Given the description of an element on the screen output the (x, y) to click on. 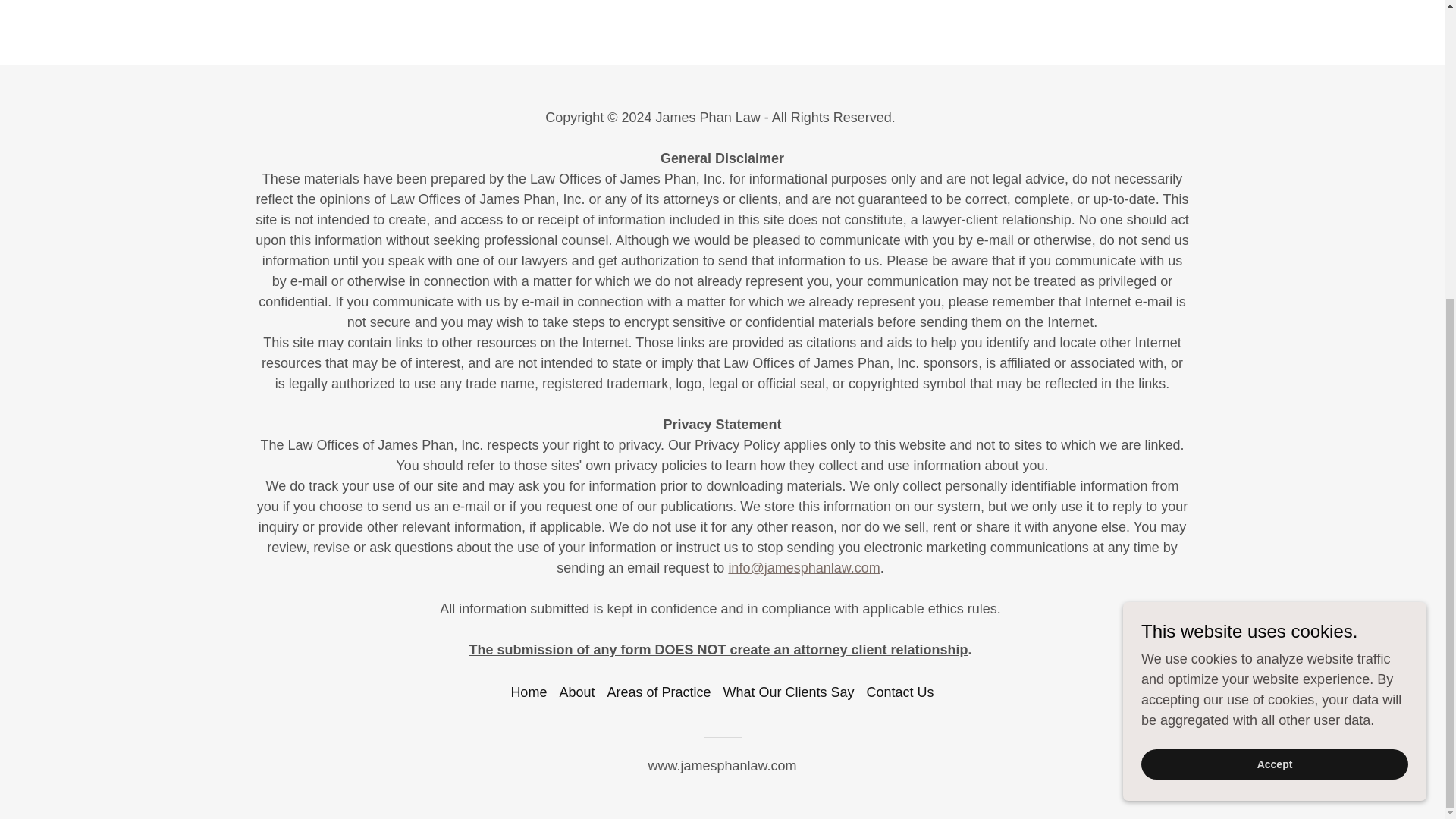
About (576, 692)
Contact Us (900, 692)
Home (528, 692)
Areas of Practice (657, 692)
Accept (1274, 301)
What Our Clients Say (788, 692)
